Given the description of an element on the screen output the (x, y) to click on. 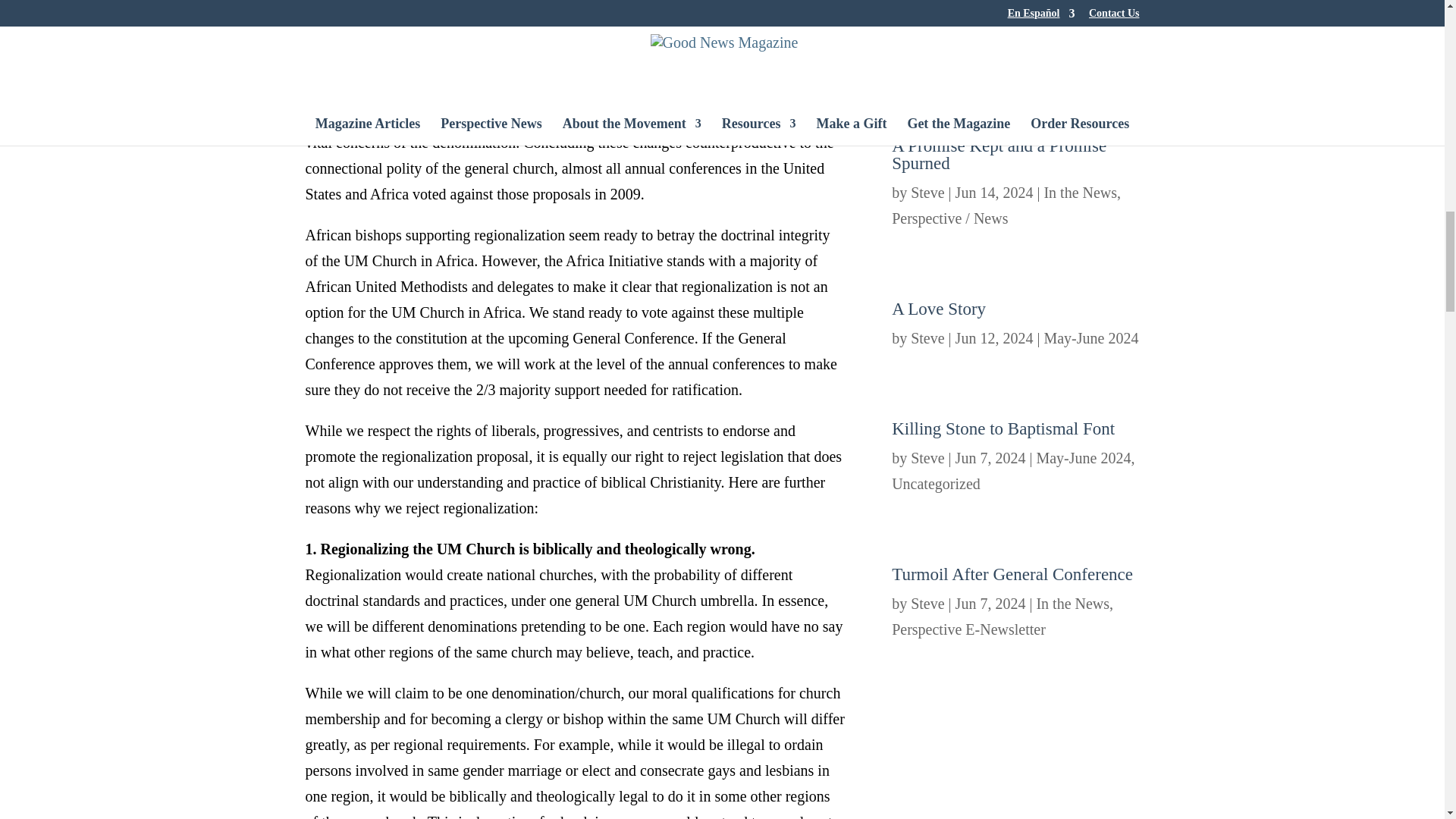
Posts by Steve (927, 192)
Posts by Steve (927, 457)
Posts by Steve (927, 603)
Posts by Steve (927, 338)
